Given the description of an element on the screen output the (x, y) to click on. 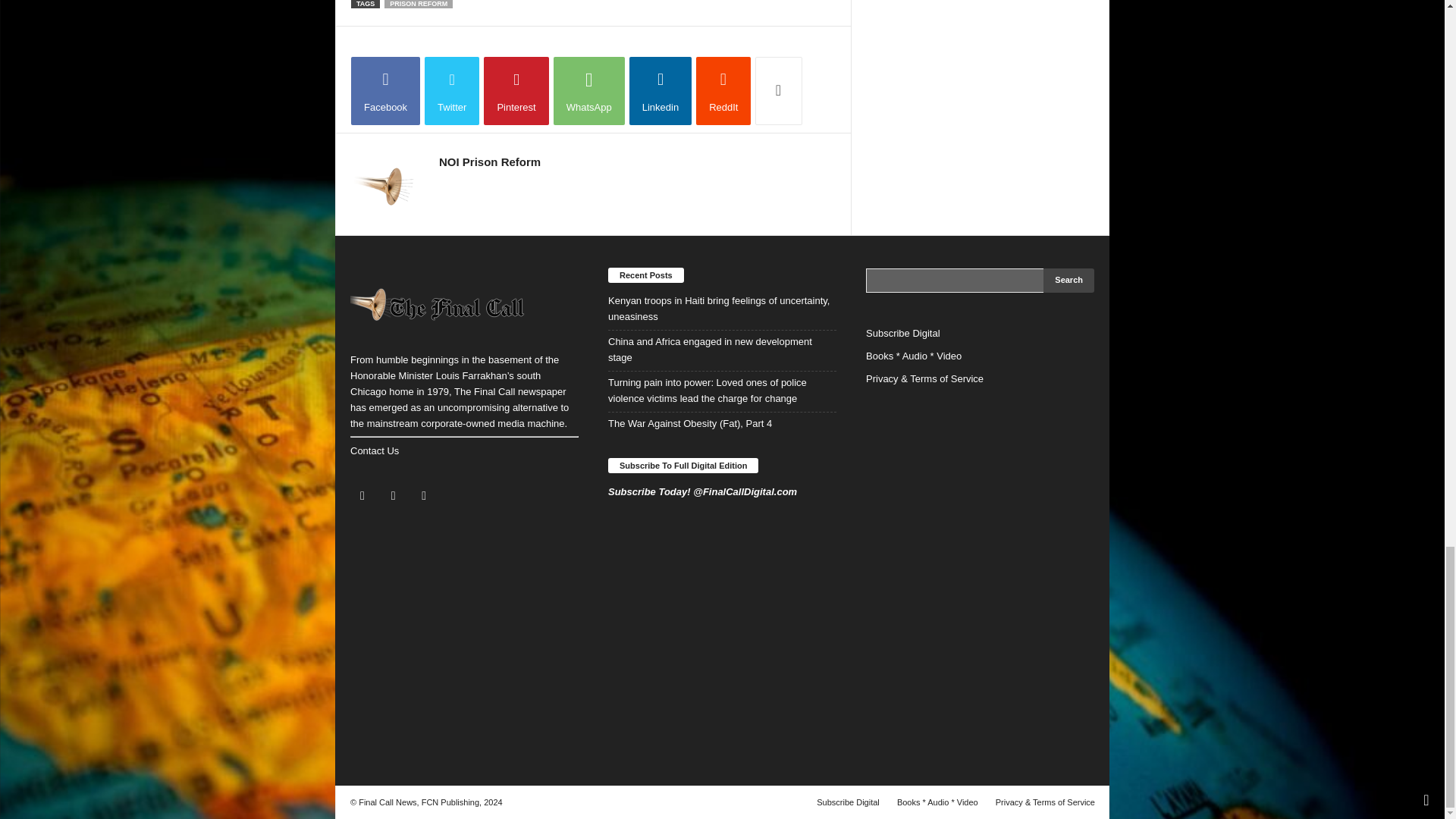
Search (1068, 280)
